Given the description of an element on the screen output the (x, y) to click on. 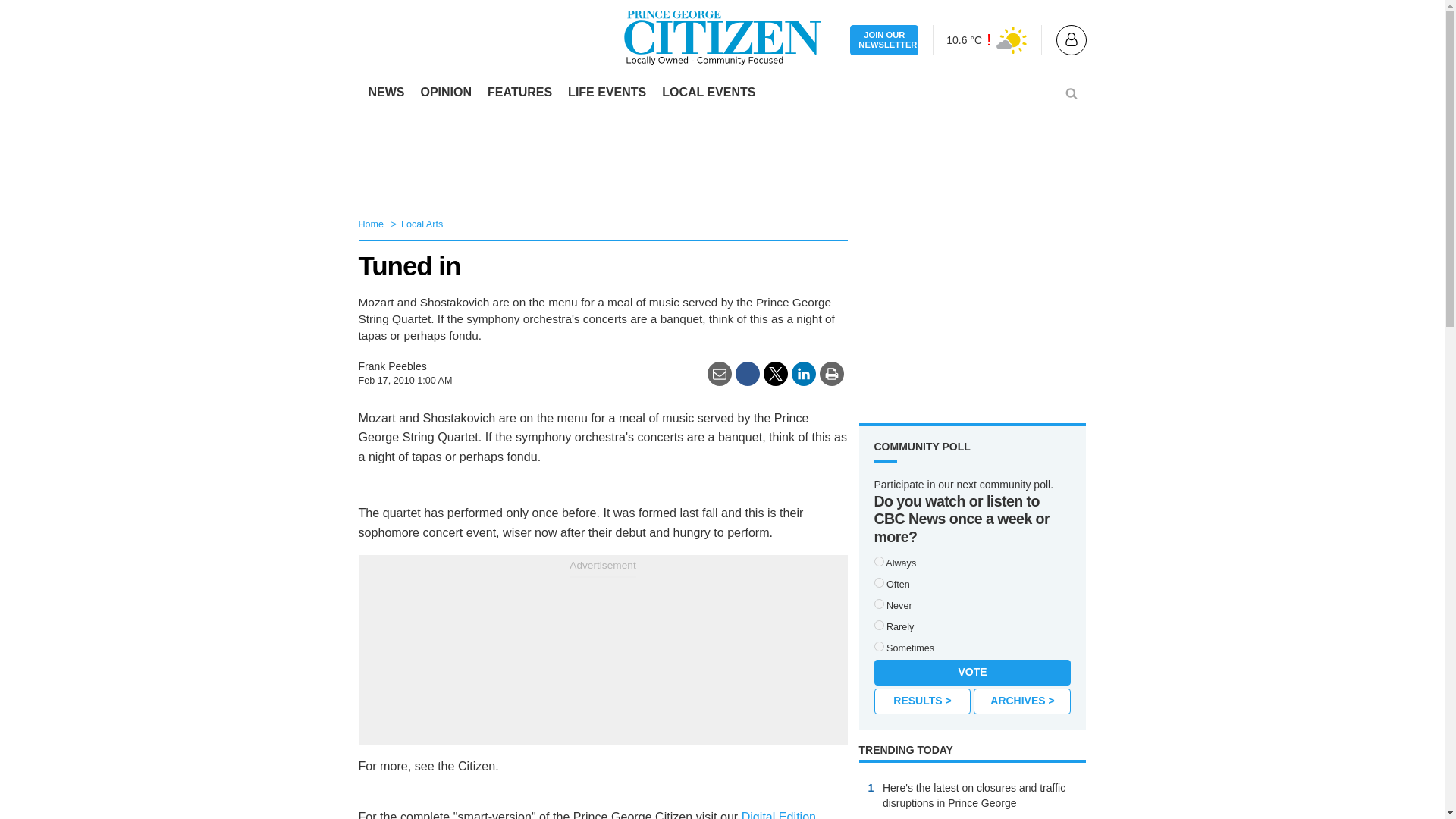
118556 (878, 561)
118557 (878, 583)
118559 (878, 624)
NEWS (386, 92)
JOIN OUR NEWSLETTER (884, 40)
118560 (878, 603)
118558 (878, 646)
OPINION (445, 92)
